Given the description of an element on the screen output the (x, y) to click on. 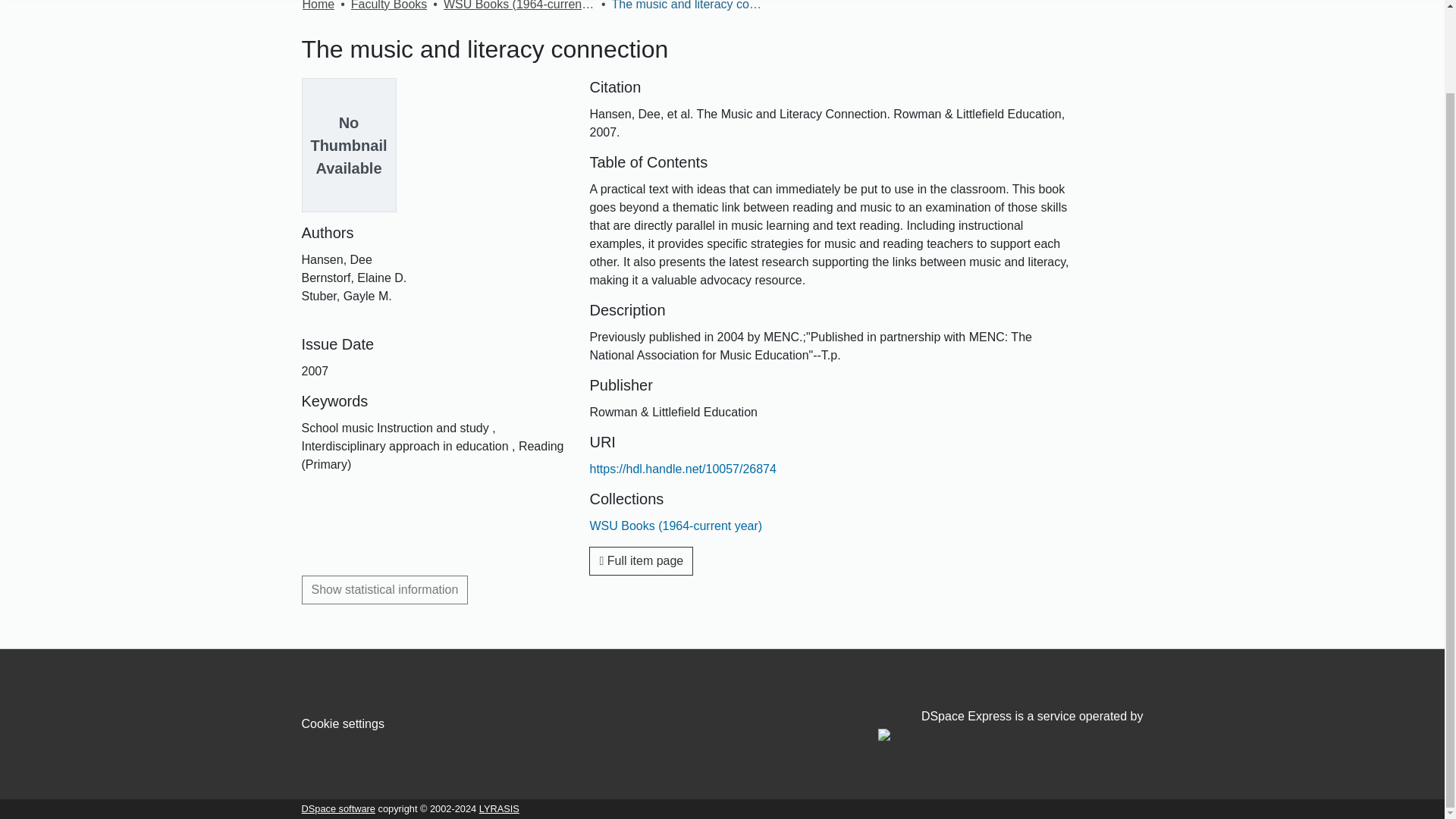
Show statistical information (384, 589)
DSpace software (338, 808)
Cookie settings (342, 723)
DSpace Express is a service operated by (1009, 726)
Home (317, 6)
LYRASIS (499, 808)
Full item page (641, 561)
Faculty Books (388, 6)
